Given the description of an element on the screen output the (x, y) to click on. 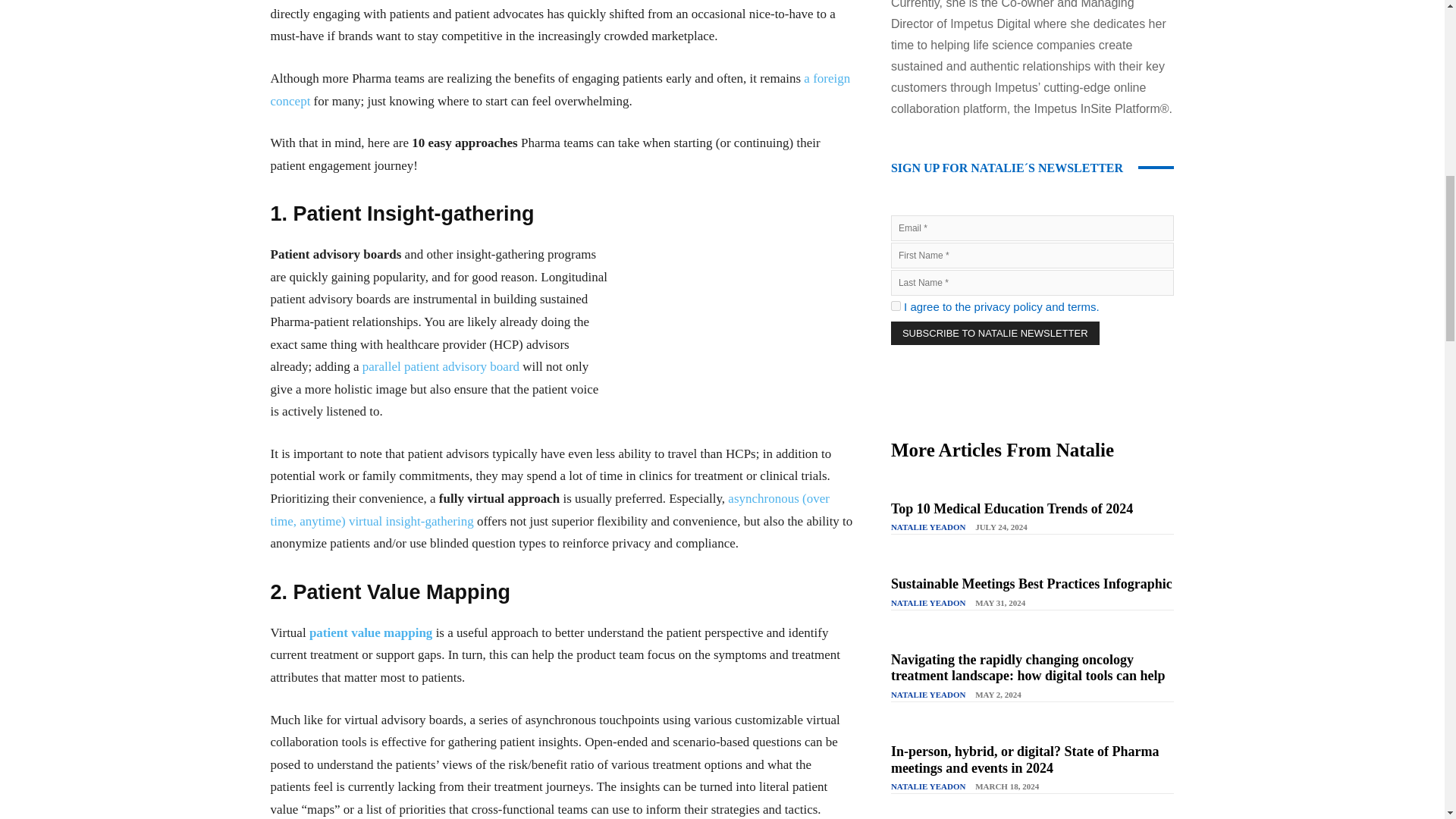
SUBSCRIBE TO NATALIE NEWSLETTER (995, 332)
Top 10 Medical Education Trends of 2024 (1011, 508)
Sustainable Meetings Best Practices Infographic (1031, 583)
1 (896, 306)
